Given the description of an element on the screen output the (x, y) to click on. 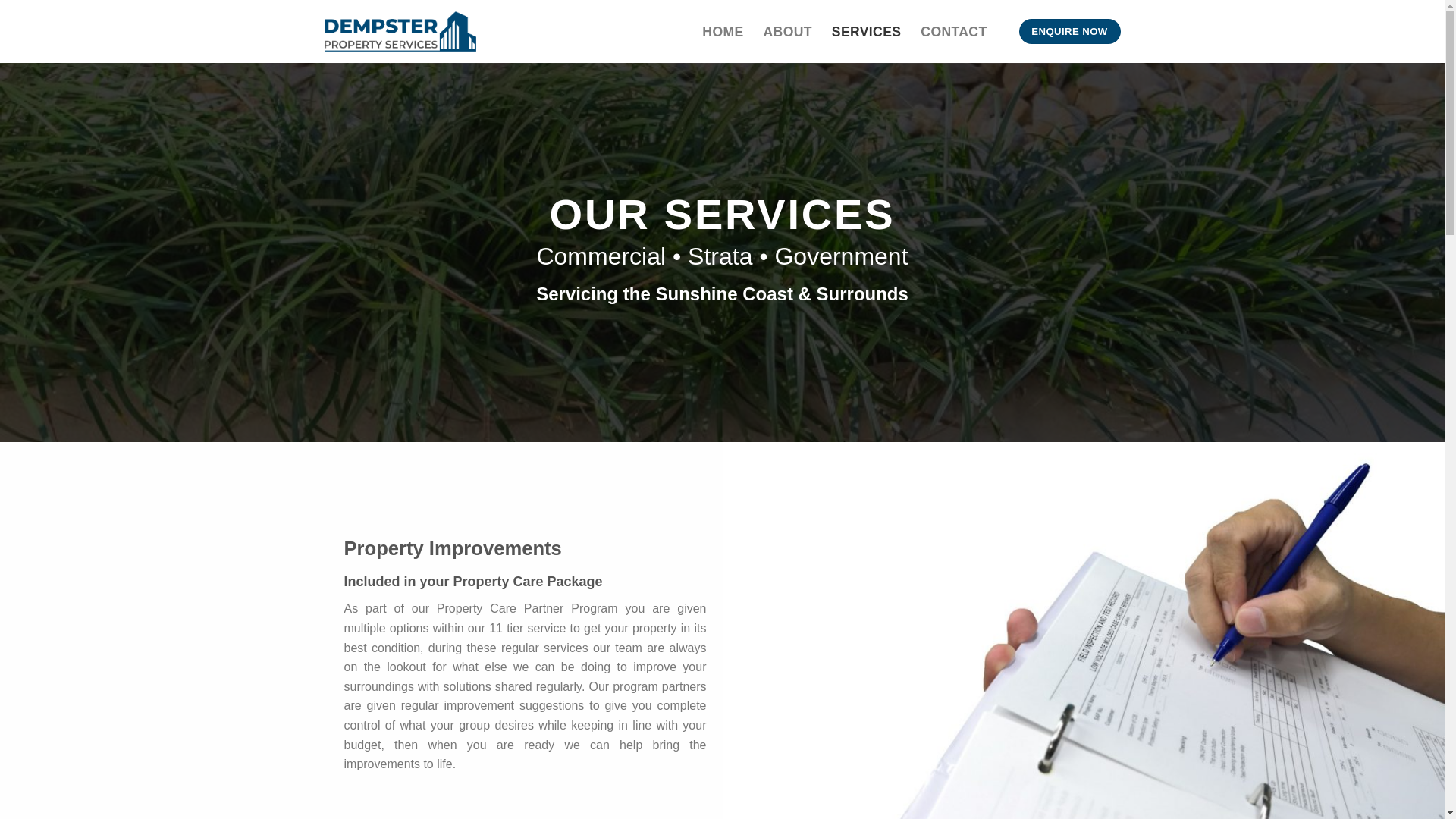
HOME Element type: text (722, 31)
CONTACT Element type: text (953, 31)
SERVICES Element type: text (865, 31)
ABOUT Element type: text (787, 31)
Your Proactive Property Care Partner - Property Maintenance Element type: hover (400, 31)
ENQUIRE NOW Element type: text (1069, 31)
